Given the description of an element on the screen output the (x, y) to click on. 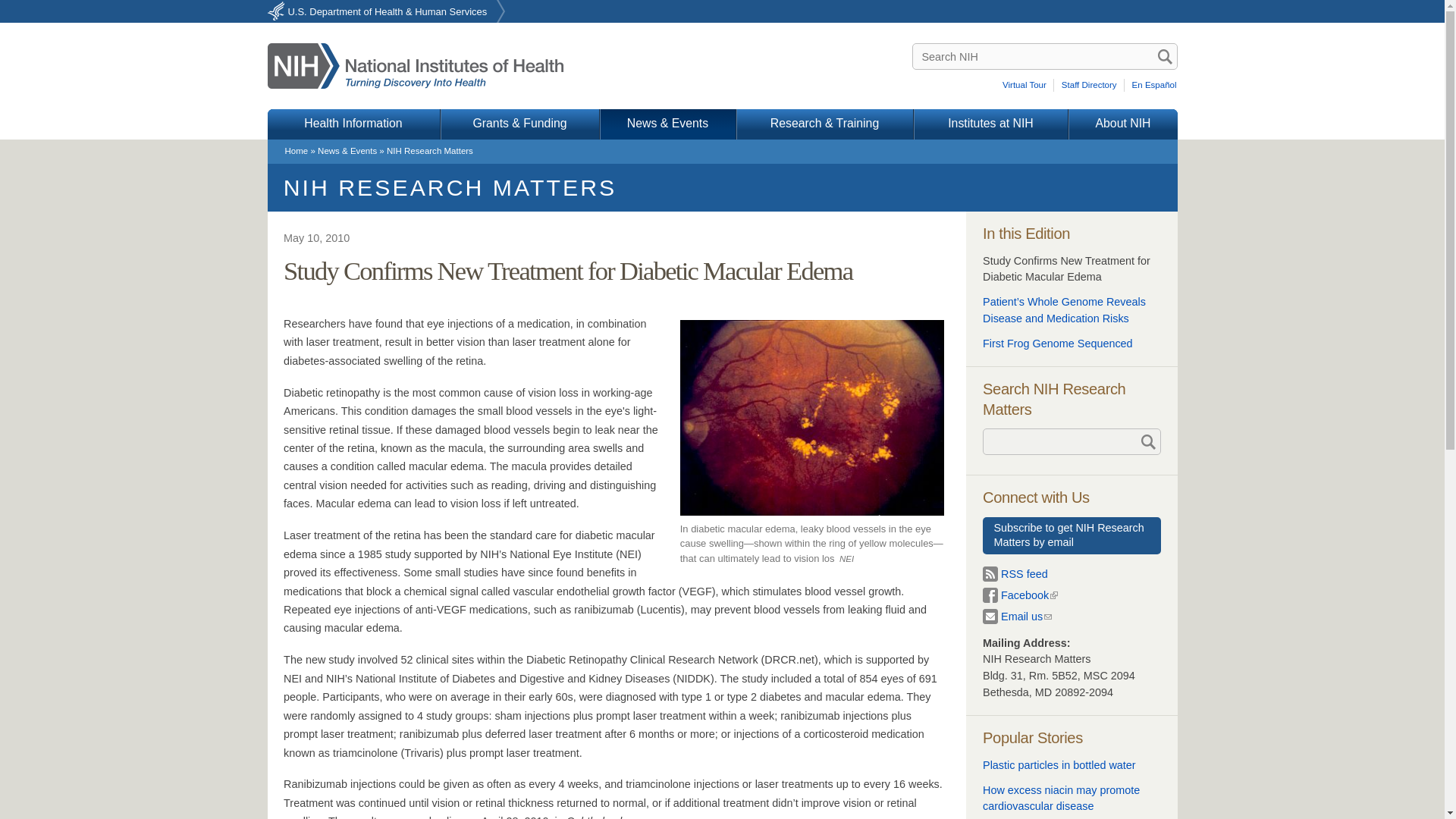
Search (1164, 56)
Search (1164, 56)
Staff Directory (1091, 84)
Health Information (352, 123)
Virtual Tour (1026, 84)
Go (1147, 441)
Search (1164, 56)
